Given the description of an element on the screen output the (x, y) to click on. 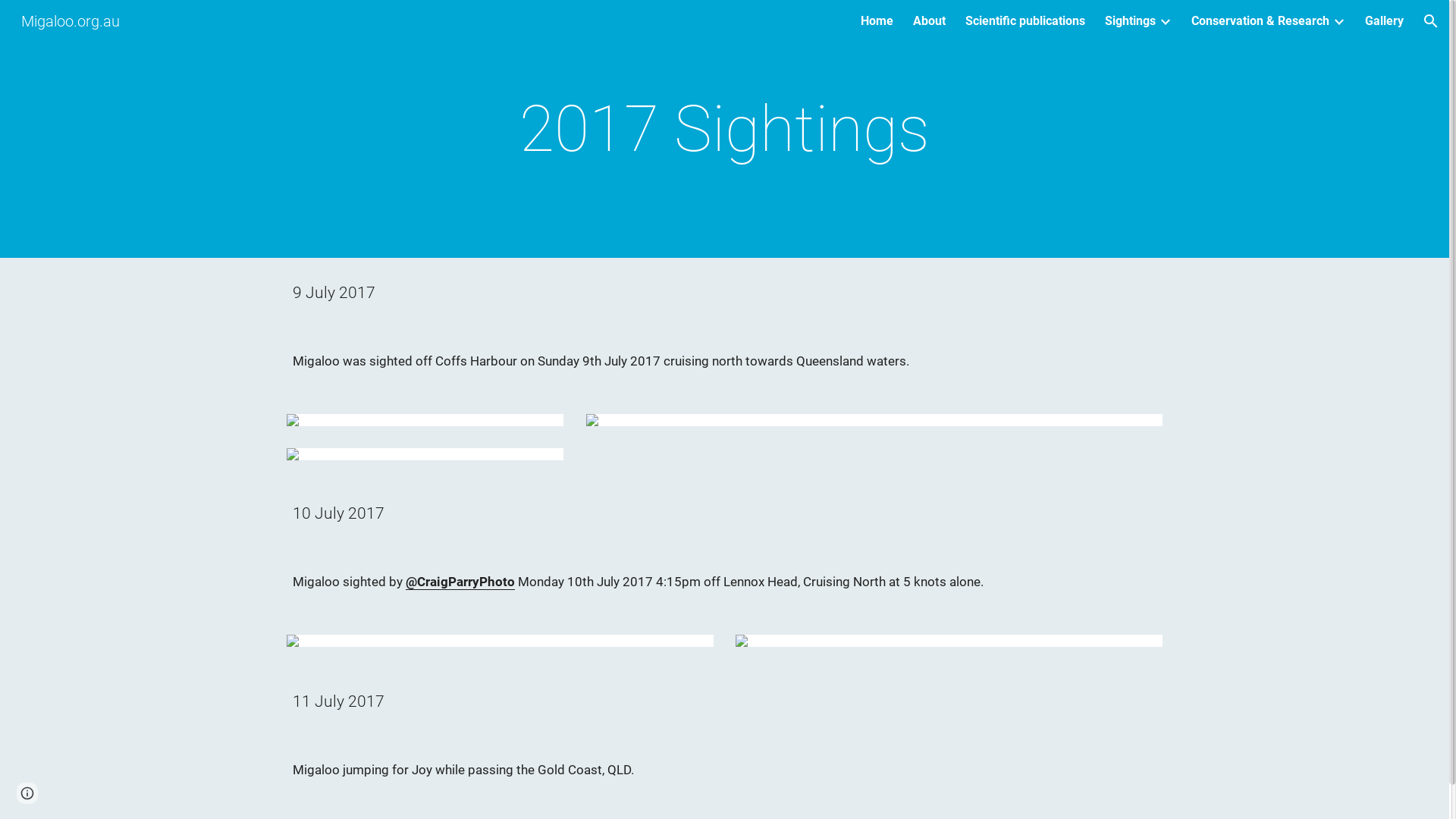
About Element type: text (929, 20)
Expand/Collapse Element type: hover (1164, 20)
Sightings Element type: text (1129, 20)
Migaloo.org.au Element type: text (70, 19)
Home Element type: text (876, 20)
@CraigParryPhoto Element type: text (459, 581)
Conservation & Research Element type: text (1260, 20)
Scientific publications Element type: text (1025, 20)
Expand/Collapse Element type: hover (1338, 20)
Gallery Element type: text (1384, 20)
